Given the description of an element on the screen output the (x, y) to click on. 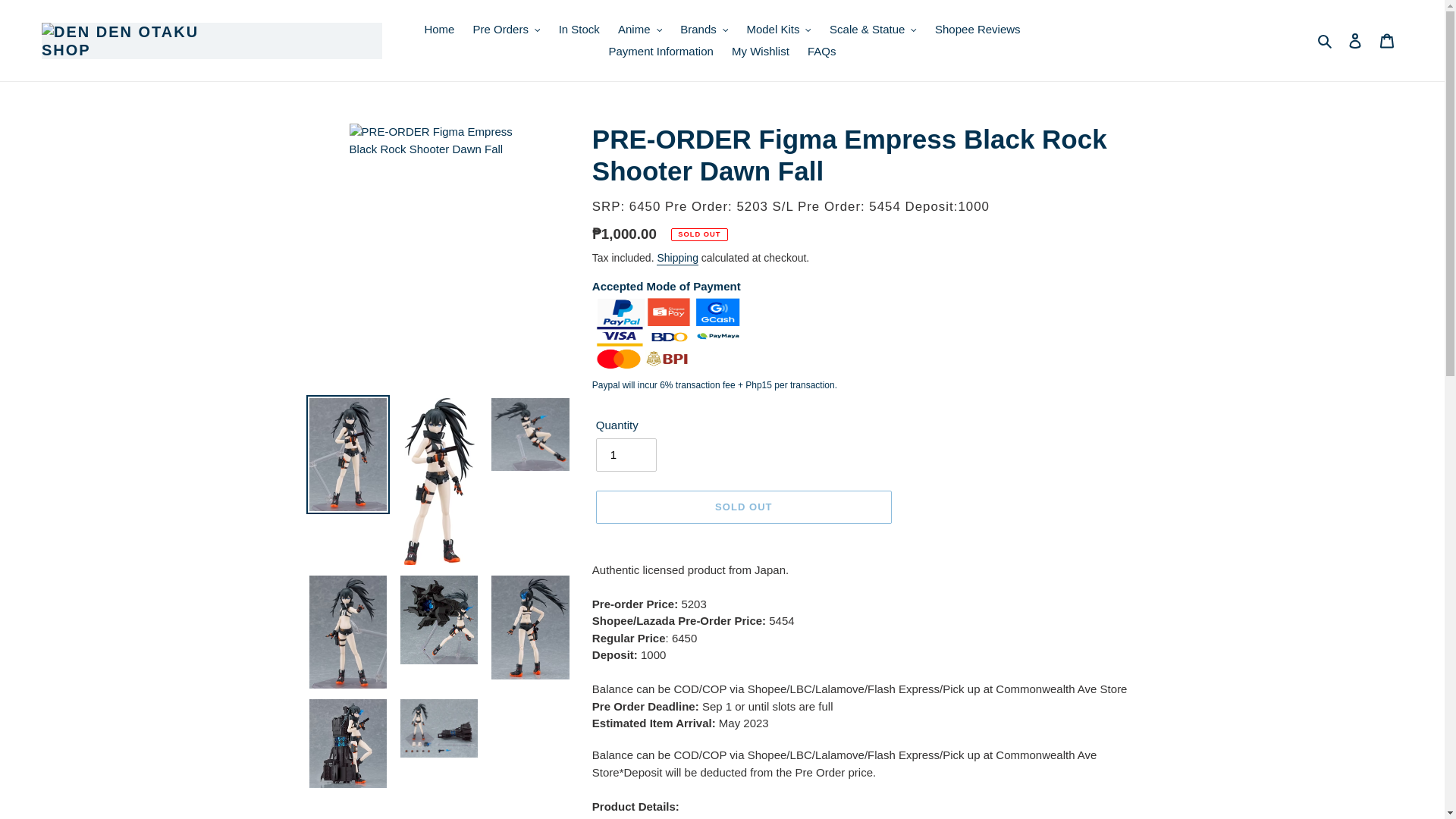
1 (625, 454)
Home (438, 29)
Pre Orders (506, 29)
In Stock (579, 29)
Anime (639, 29)
